Given the description of an element on the screen output the (x, y) to click on. 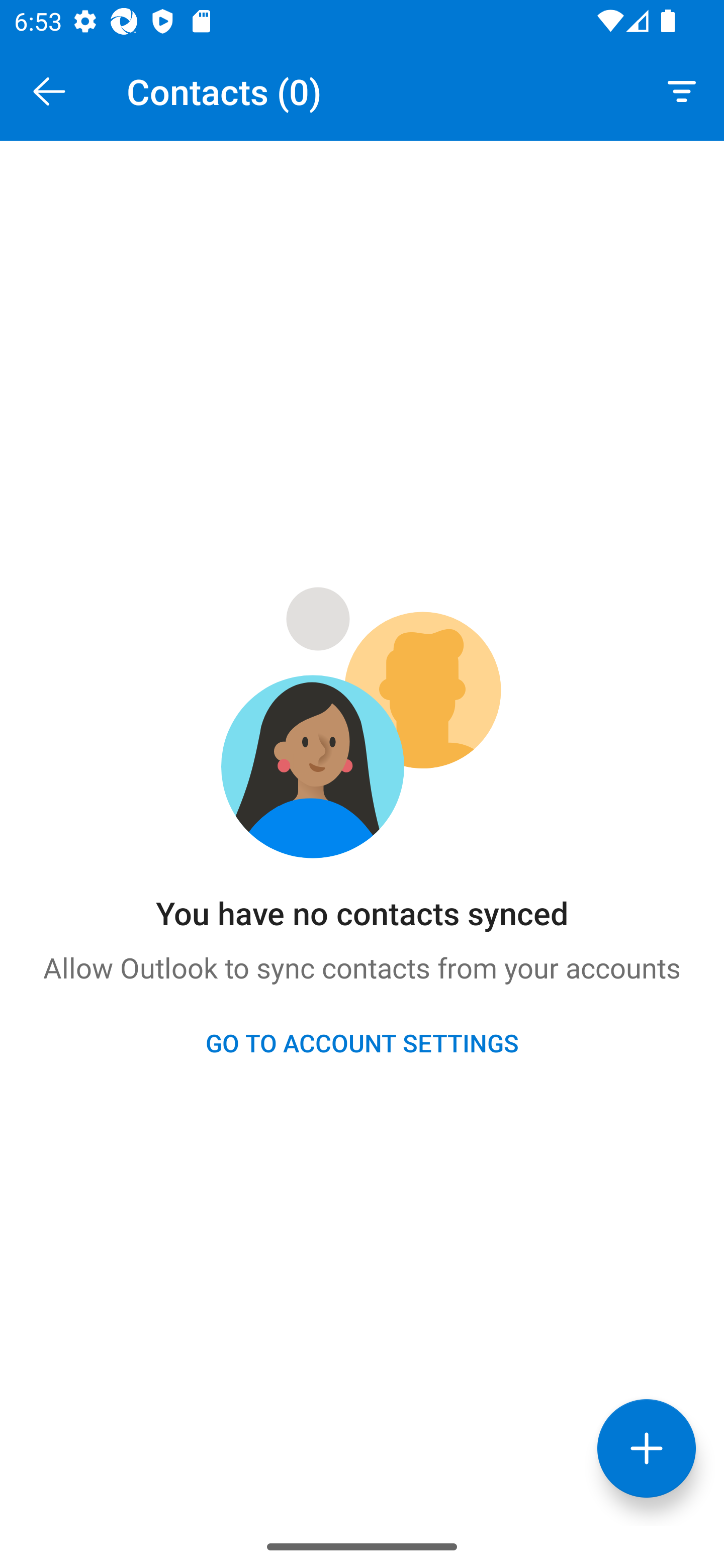
Navigate up (49, 91)
Filter (681, 90)
GO TO ACCOUNT SETTINGS (361, 1042)
Add new contact (646, 1447)
